Given the description of an element on the screen output the (x, y) to click on. 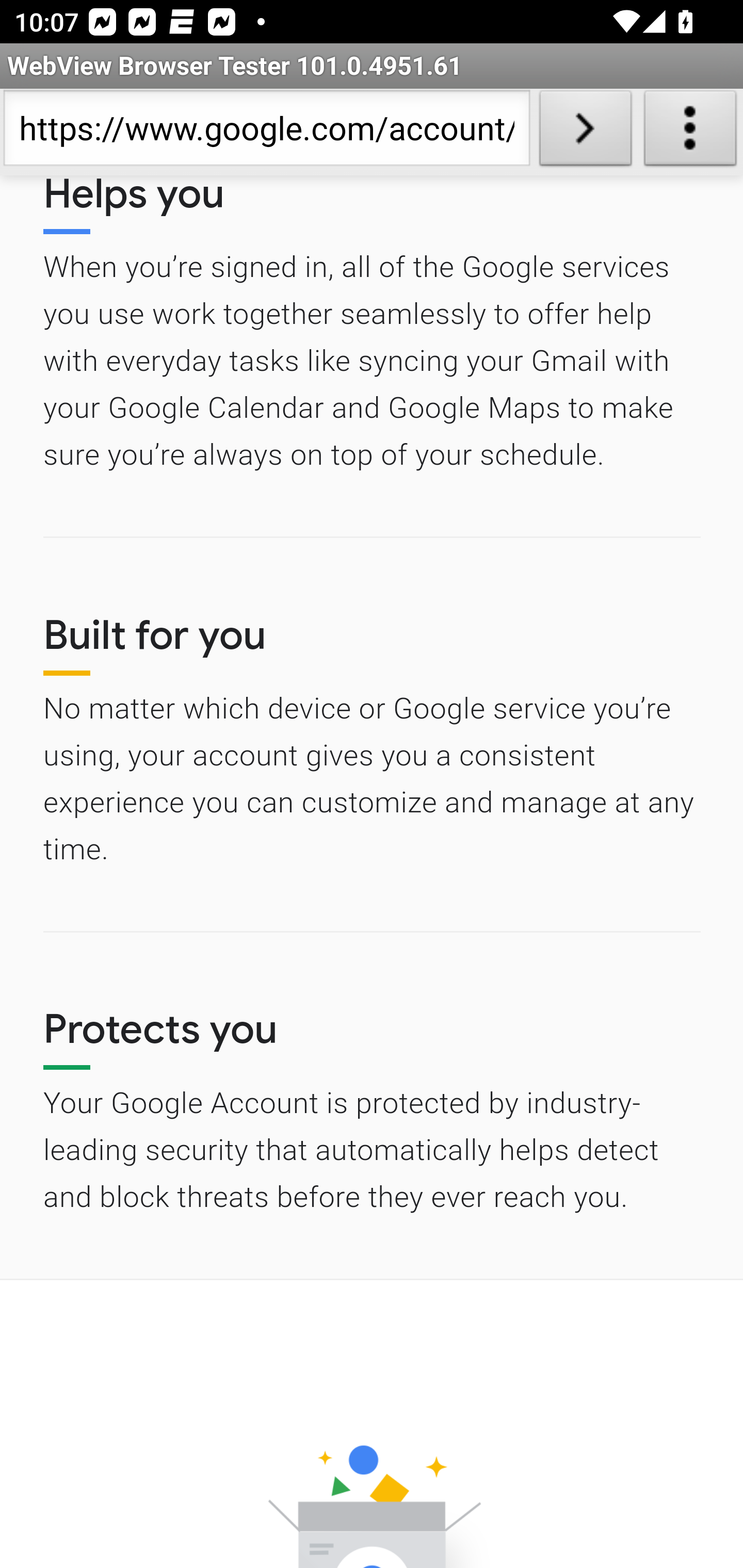
https://www.google.com/account/about/ (266, 132)
Load URL (585, 132)
About WebView (690, 132)
